Given the description of an element on the screen output the (x, y) to click on. 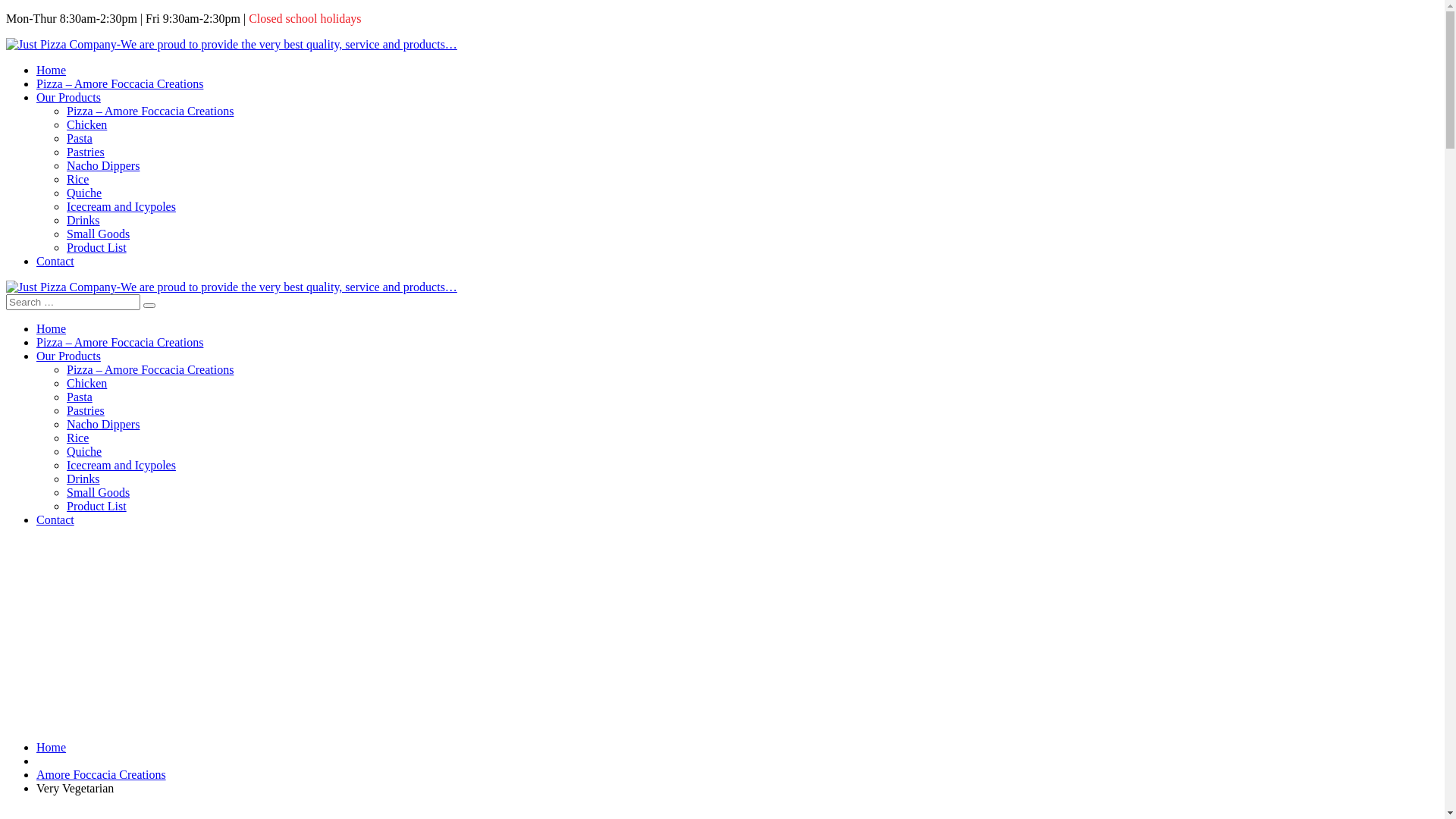
Small Goods Element type: text (97, 233)
Quiche Element type: text (83, 451)
Home Element type: text (50, 69)
Search for: Element type: hover (73, 302)
Product List Element type: text (96, 247)
Rice Element type: text (77, 178)
Chicken Element type: text (86, 124)
Icecream and Icypoles Element type: text (120, 206)
Drinks Element type: text (83, 478)
Our Products Element type: text (68, 97)
Pasta Element type: text (79, 396)
Product List Element type: text (96, 505)
Amore Foccacia Creations Element type: text (101, 774)
Contact Element type: text (55, 519)
Home Element type: text (50, 328)
Nacho Dippers Element type: text (102, 423)
Drinks Element type: text (83, 219)
Pasta Element type: text (79, 137)
Small Goods Element type: text (97, 492)
Pastries Element type: text (85, 151)
Contact Element type: text (55, 260)
Chicken Element type: text (86, 382)
Rice Element type: text (77, 437)
Nacho Dippers Element type: text (102, 165)
Our Products Element type: text (68, 355)
Pastries Element type: text (85, 410)
Home Element type: text (50, 746)
Icecream and Icypoles Element type: text (120, 464)
Quiche Element type: text (83, 192)
